Given the description of an element on the screen output the (x, y) to click on. 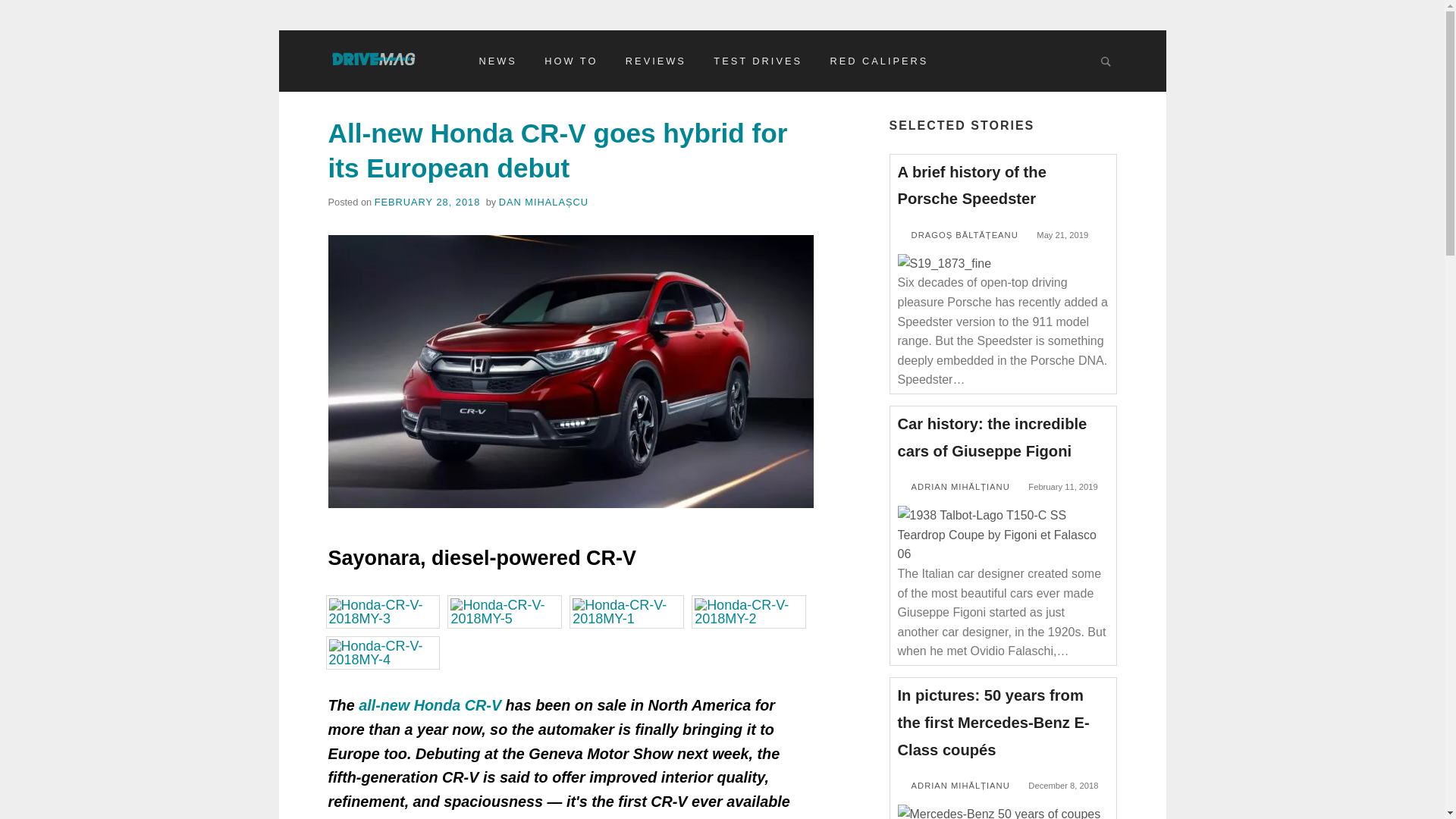
NEWS (497, 60)
TEST DRIVES (757, 60)
FEBRUARY 28, 2018 (427, 202)
REVIEWS (655, 60)
HOW TO (571, 60)
RED CALIPERS (879, 60)
all-new Honda CR-V (429, 704)
